Given the description of an element on the screen output the (x, y) to click on. 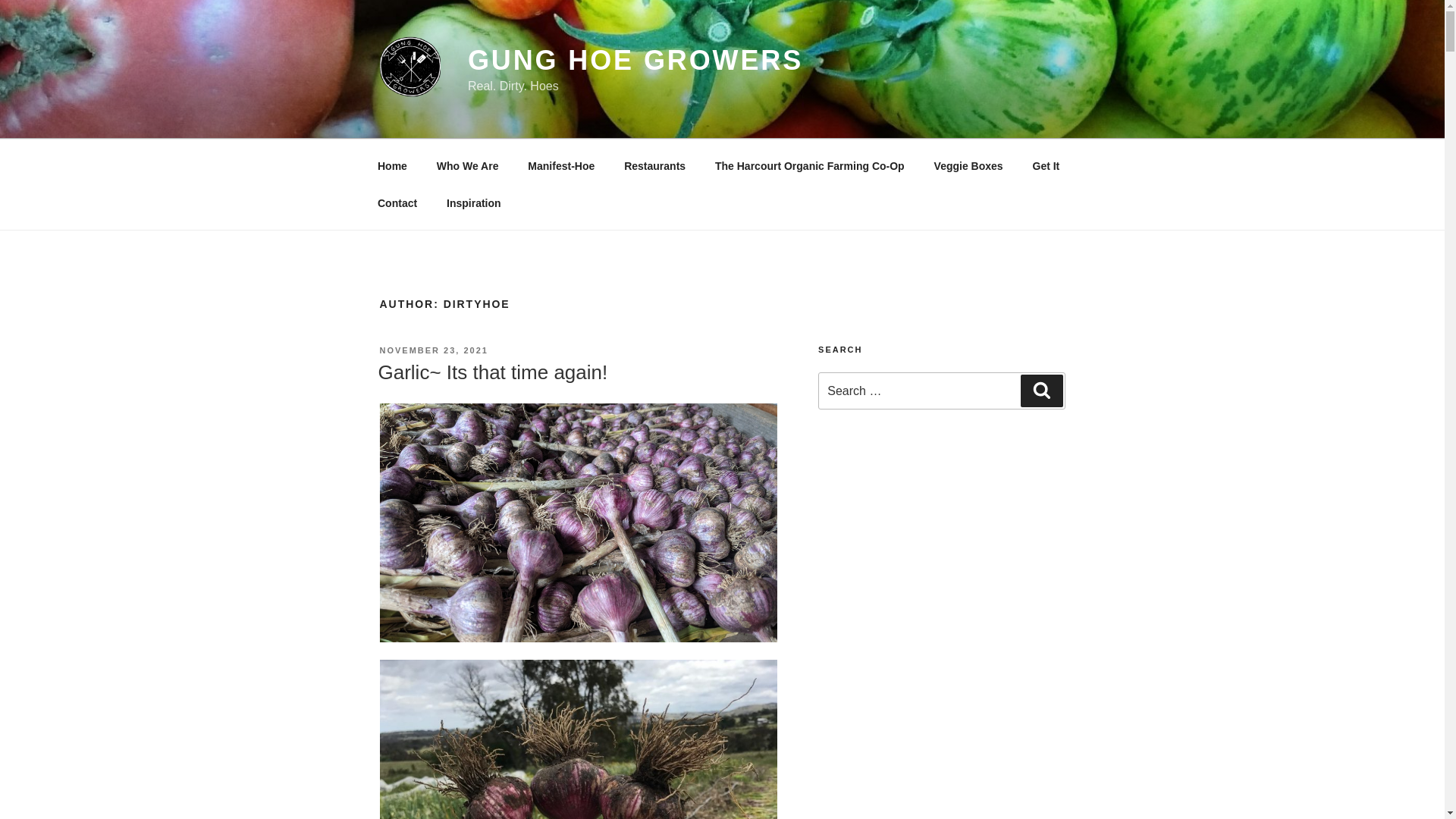
The Harcourt Organic Farming Co-Op Element type: text (809, 165)
NOVEMBER 23, 2021 Element type: text (433, 349)
Home Element type: text (392, 165)
Get It Element type: text (1046, 165)
Manifest-Hoe Element type: text (561, 165)
Veggie Boxes Element type: text (968, 165)
Garlic~ Its that time again! Element type: text (492, 371)
Restaurants Element type: text (655, 165)
Inspiration Element type: text (473, 203)
GUNG HOE GROWERS Element type: text (635, 59)
Contact Element type: text (396, 203)
Who We Are Element type: text (467, 165)
Search Element type: text (1041, 390)
